Given the description of an element on the screen output the (x, y) to click on. 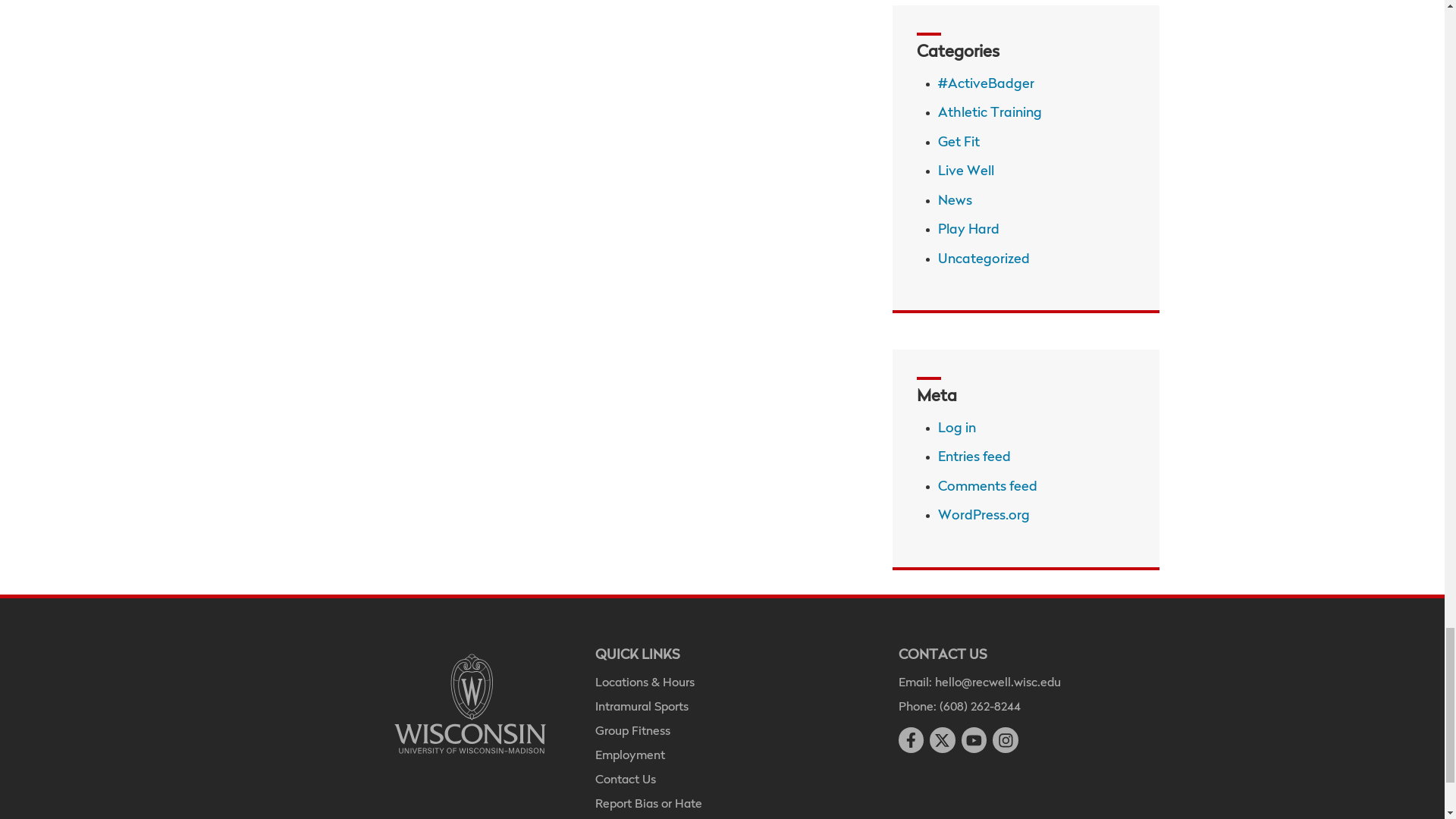
youtube (973, 740)
University logo that links to main university website (470, 703)
instagram (1005, 740)
x twitter (941, 740)
facebook (910, 740)
